Given the description of an element on the screen output the (x, y) to click on. 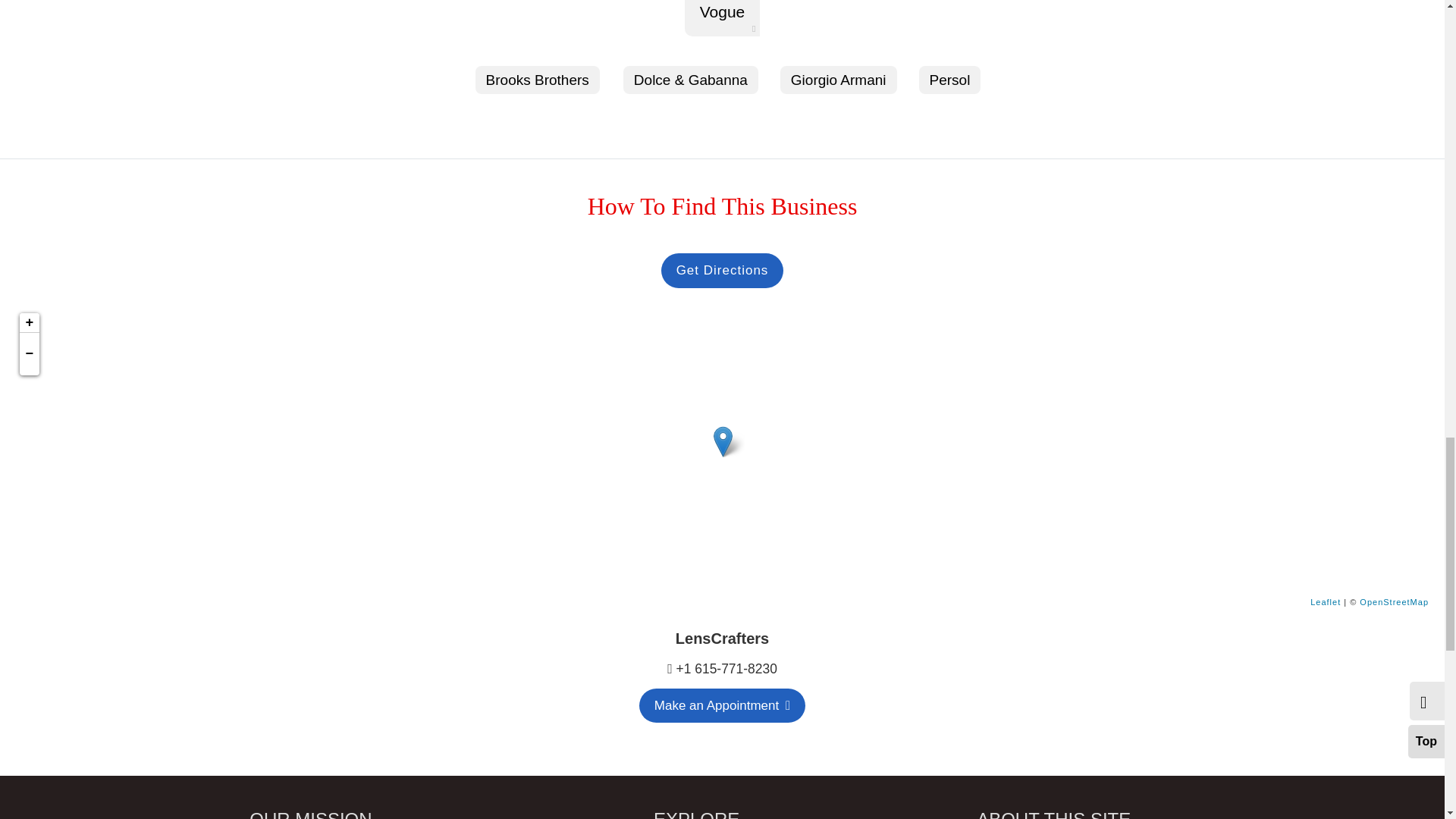
A JS library for interactive maps (1325, 601)
Zoom in (29, 322)
Zoom out (29, 353)
LensCrafters Appointment (722, 705)
